Given the description of an element on the screen output the (x, y) to click on. 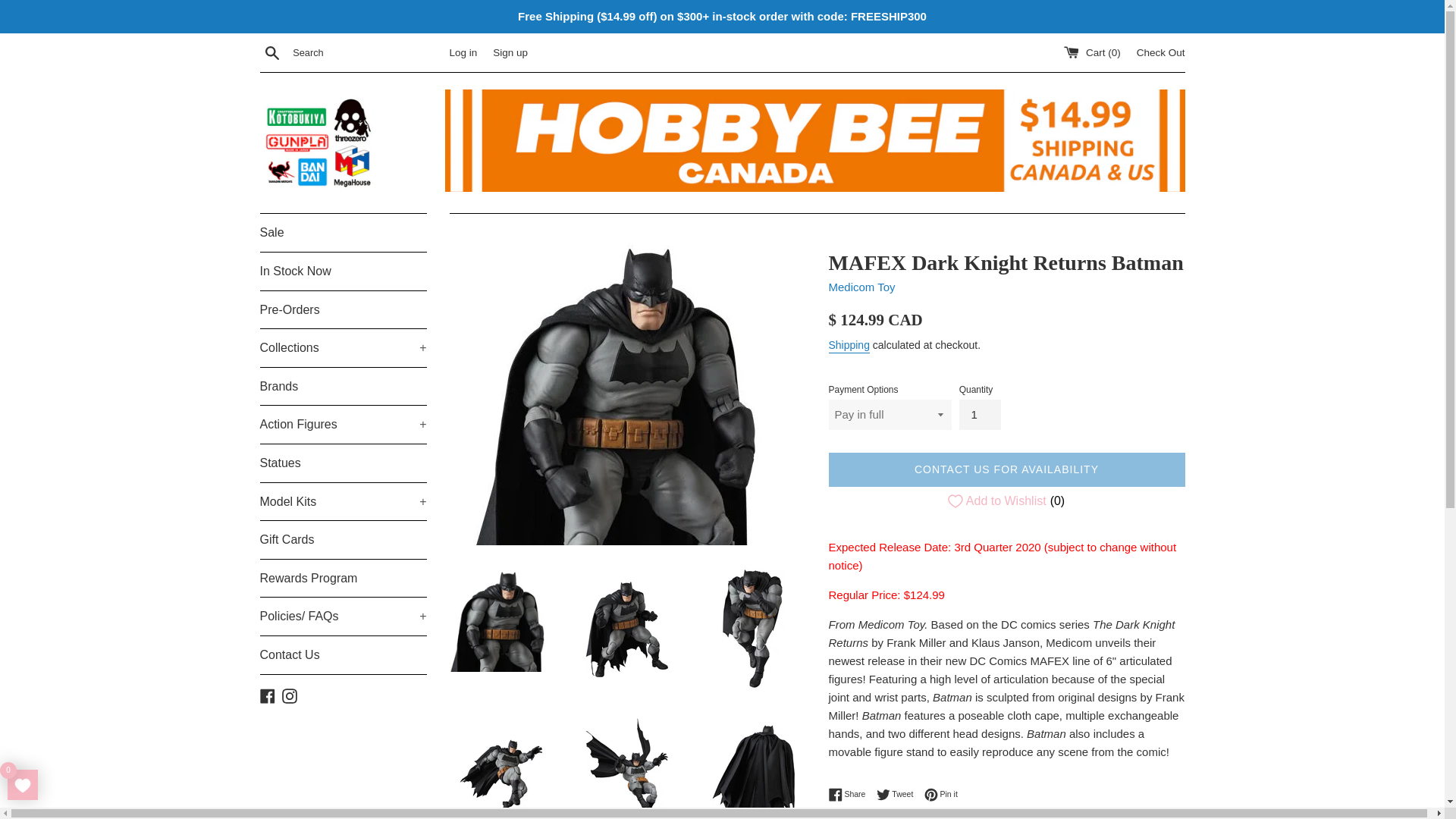
Share on Facebook (850, 794)
Hobby Bee Canada on Facebook (267, 694)
Medicom Toy (861, 286)
Sign up (510, 52)
In Stock Now (342, 271)
Pin on Pinterest (941, 794)
Tweet on Twitter (898, 794)
Log in (462, 52)
Pre-Orders (342, 310)
Sale (342, 232)
Check Out (1161, 52)
1 (980, 414)
Search (271, 52)
Hobby Bee Canada on Instagram (289, 694)
